Given the description of an element on the screen output the (x, y) to click on. 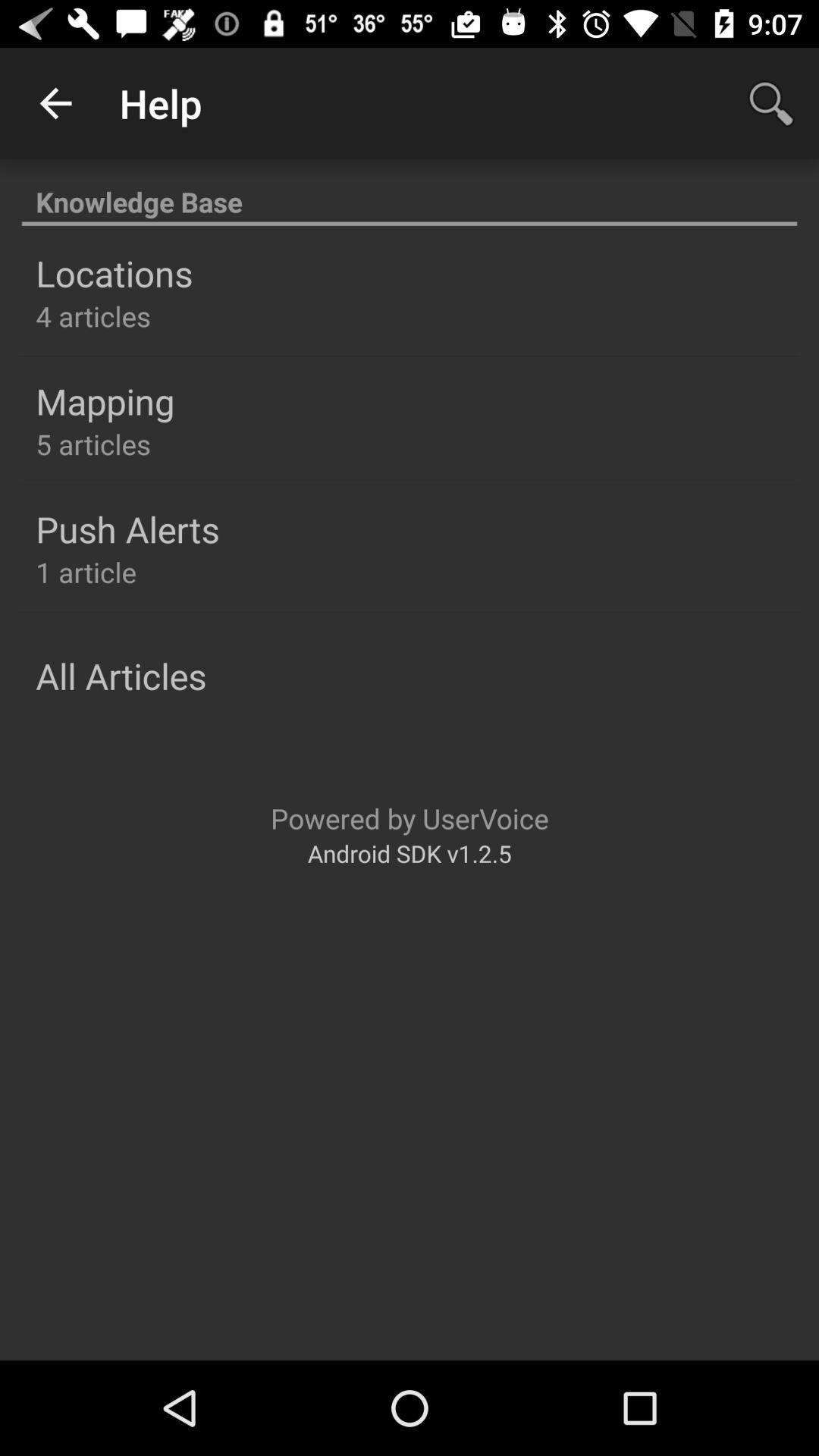
turn on icon below the push alerts icon (85, 571)
